Given the description of an element on the screen output the (x, y) to click on. 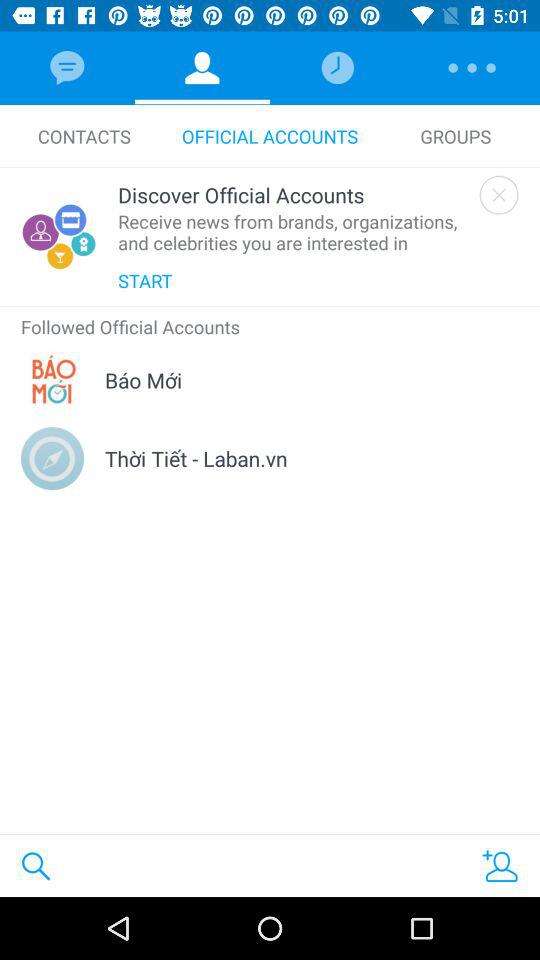
press icon below the followed official accounts (143, 379)
